Given the description of an element on the screen output the (x, y) to click on. 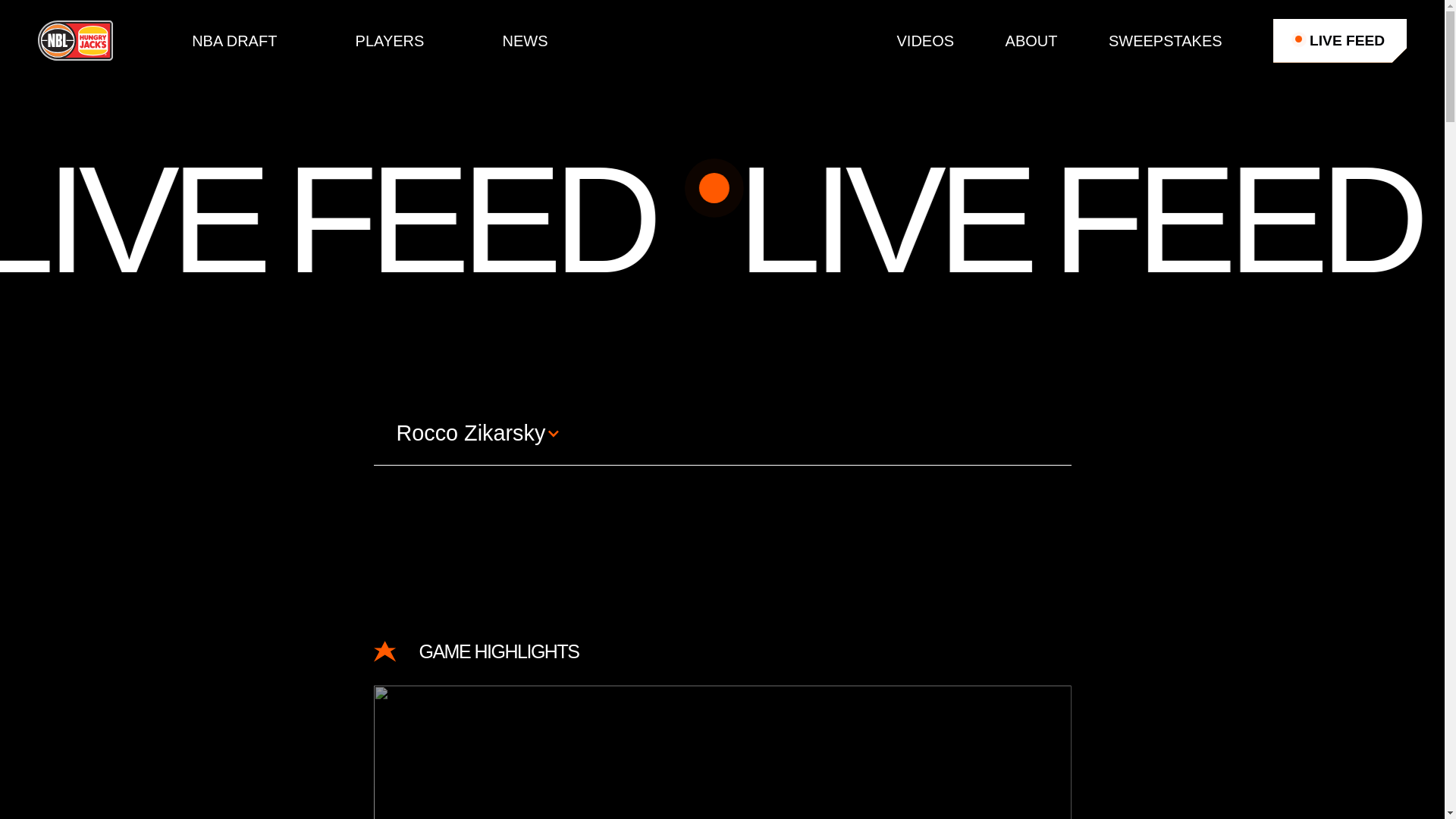
PLAYERS (390, 40)
NEWS (524, 40)
LIVE FEED (1339, 40)
ABOUT (1032, 40)
NBA DRAFT (234, 40)
SWEEPSTAKES (1165, 40)
VIDEOS (924, 40)
